Given the description of an element on the screen output the (x, y) to click on. 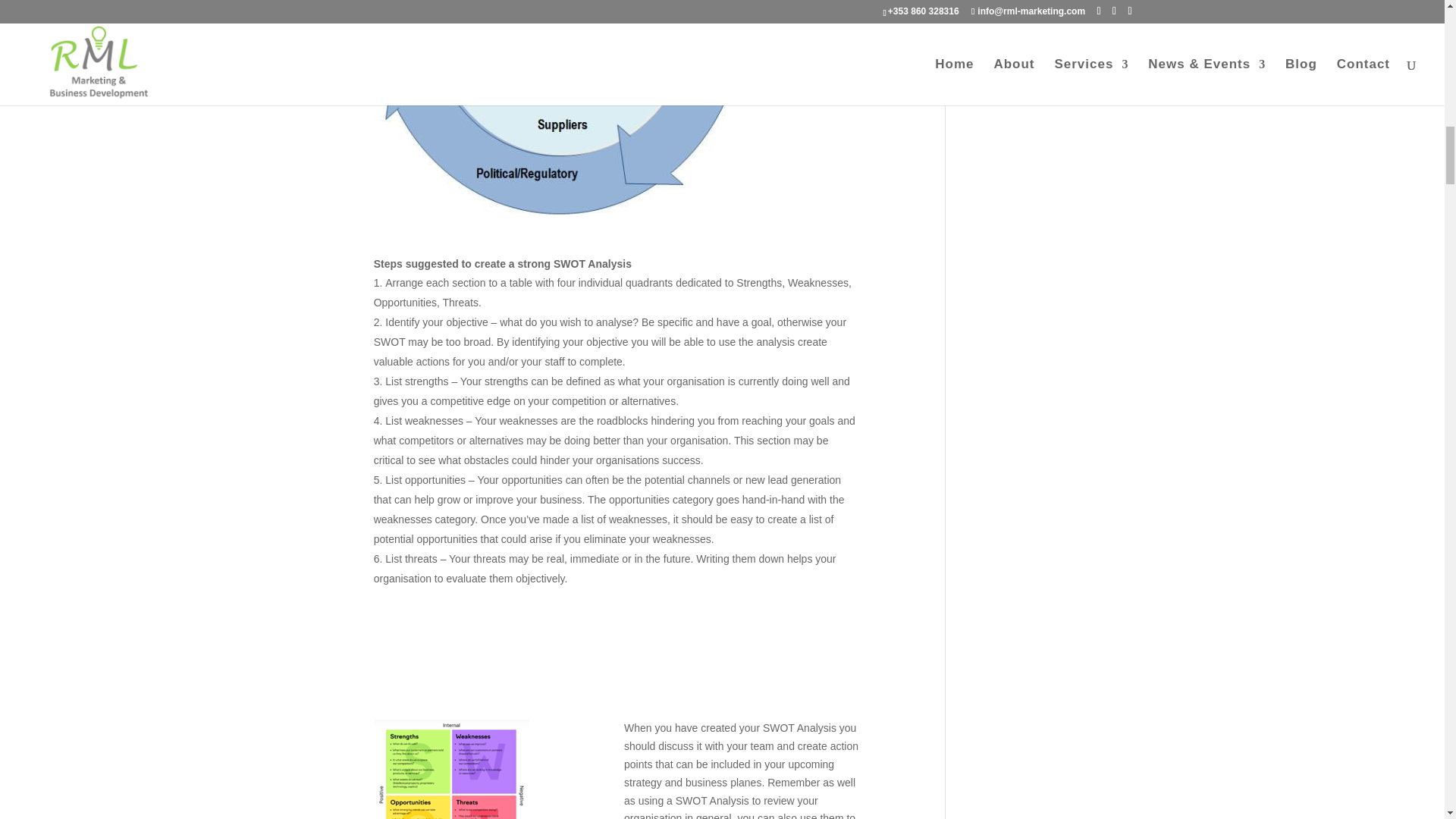
SWOT Analysis 1 (563, 107)
SWOT Analysis (451, 769)
